Given the description of an element on the screen output the (x, y) to click on. 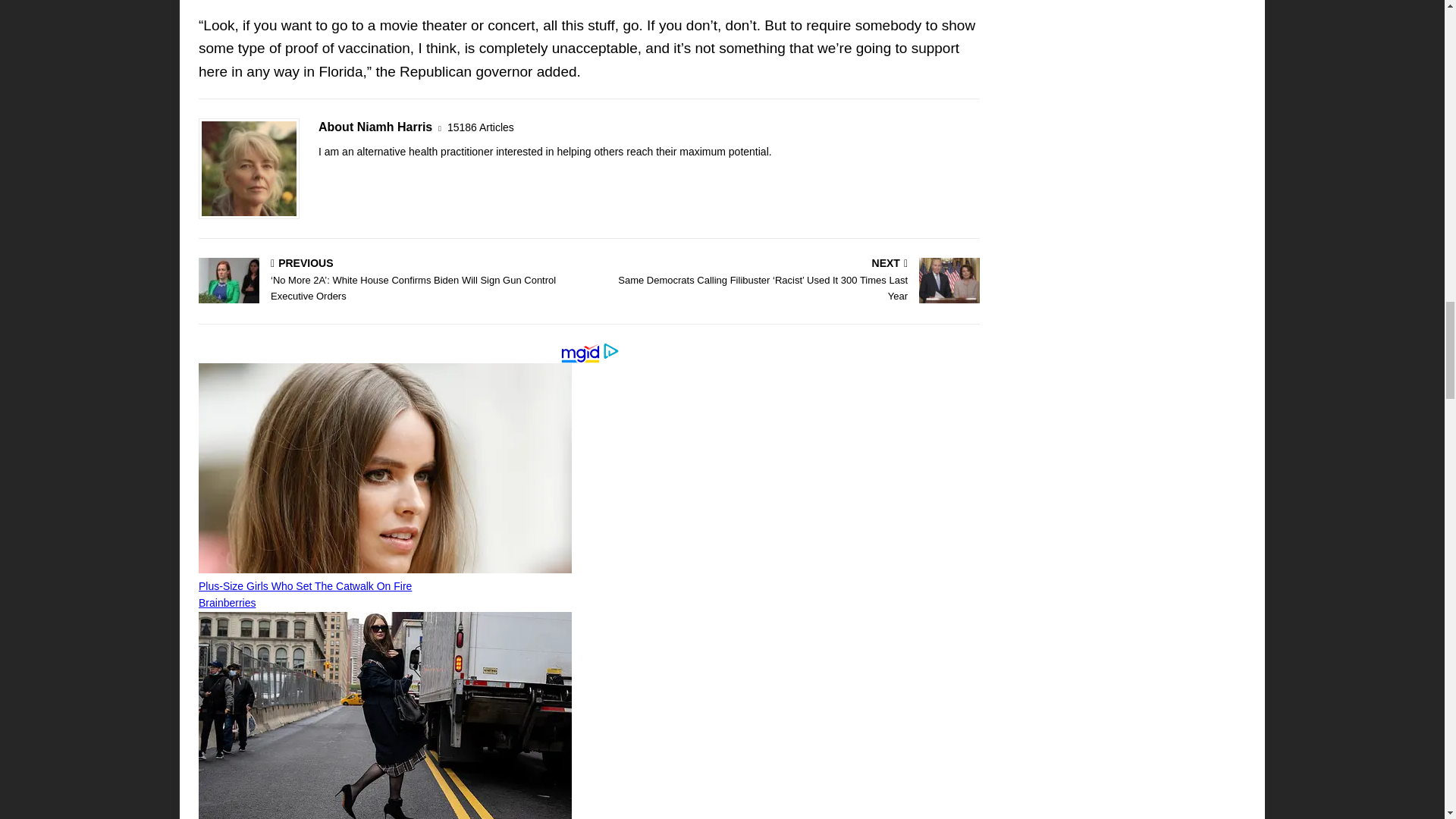
More articles written by Niamh Harris' (479, 127)
